Given the description of an element on the screen output the (x, y) to click on. 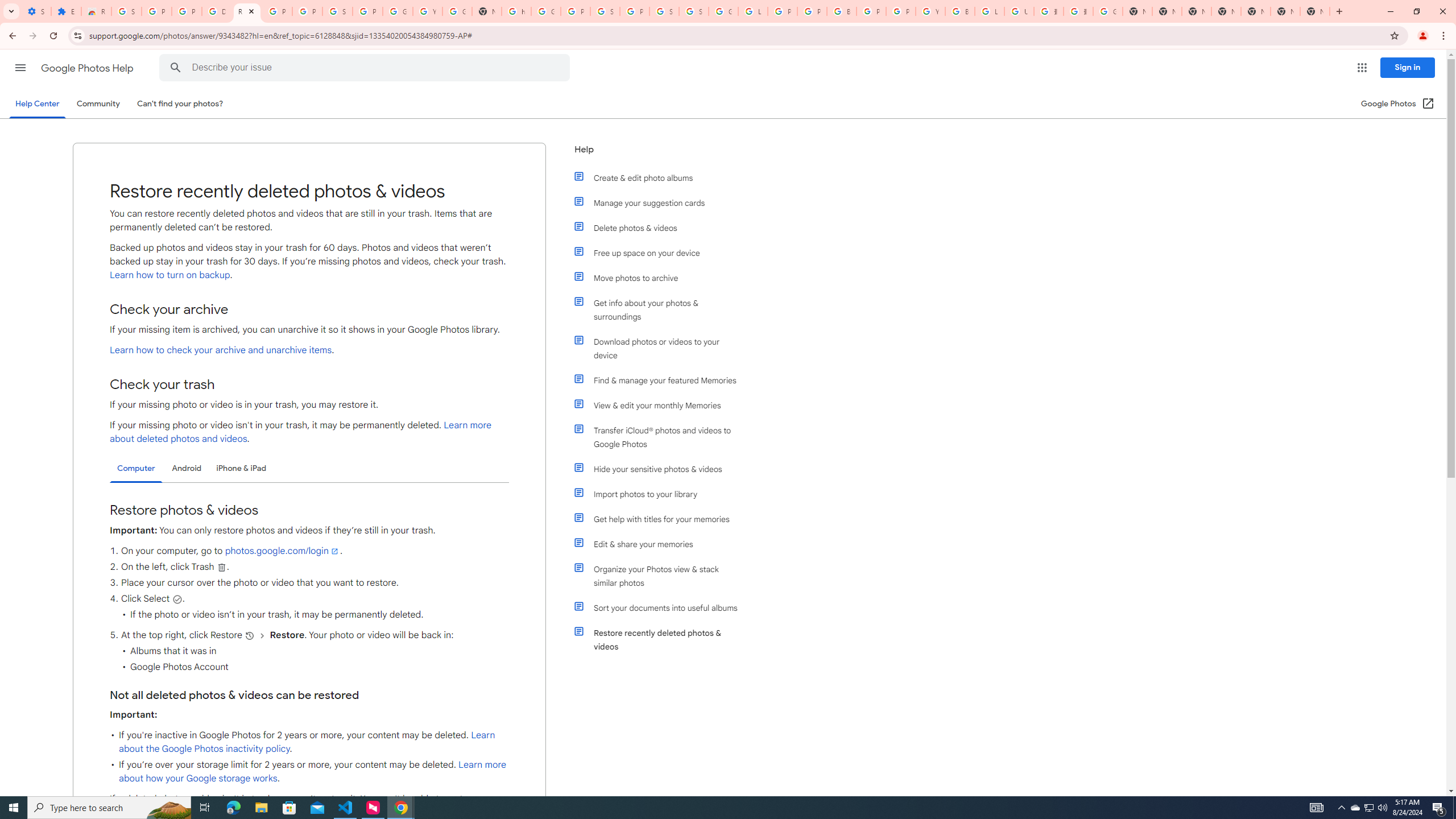
Manage your suggestion cards (661, 202)
Create & edit photo albums (661, 177)
Search Help Center (176, 67)
photos.google.com/login (282, 550)
New Tab (1314, 11)
Find & manage your featured Memories (661, 380)
